Given the description of an element on the screen output the (x, y) to click on. 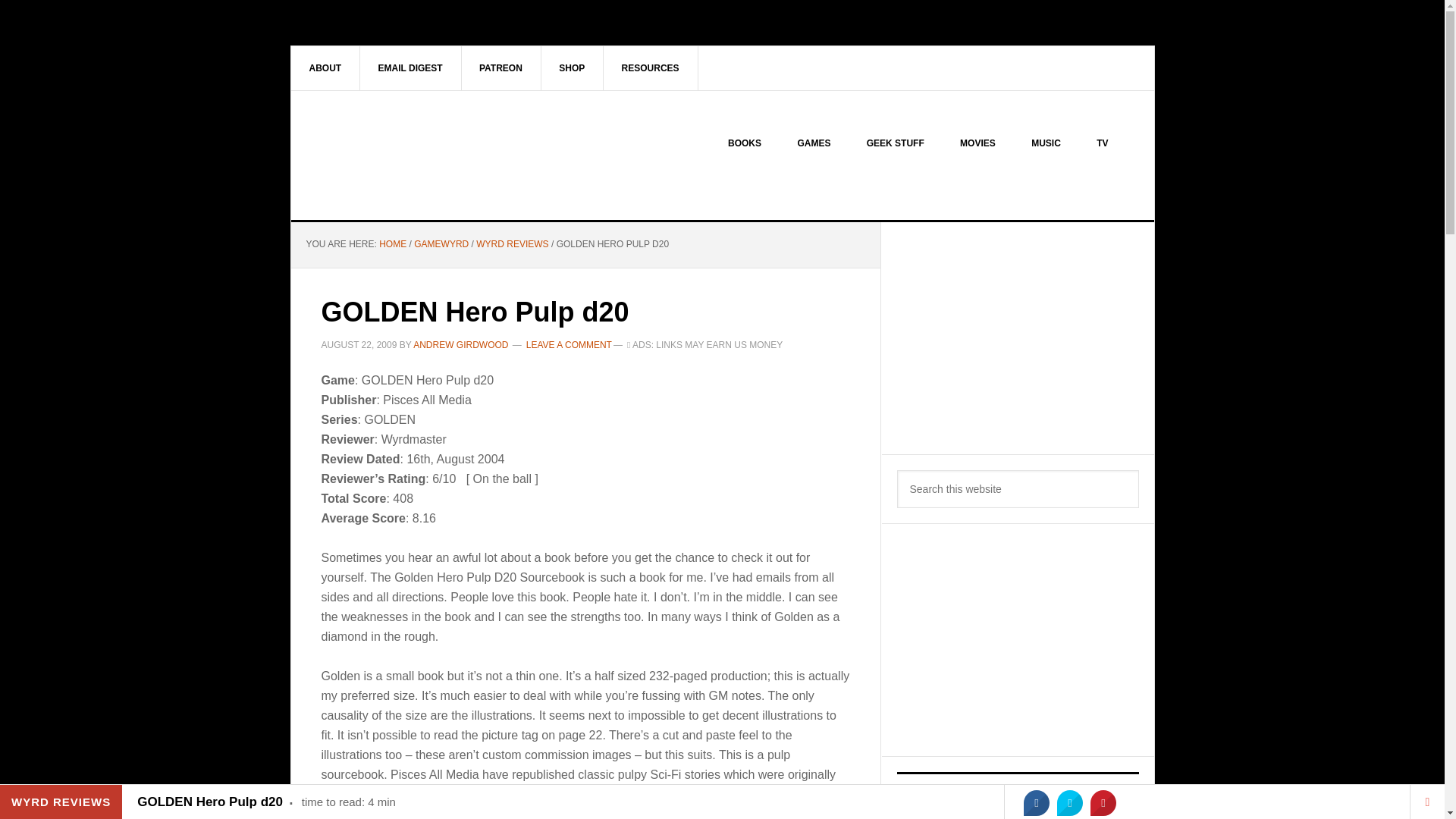
EMAIL DIGEST (410, 67)
TV (1101, 143)
RESOURCES (651, 67)
BOOKS (744, 143)
ABOUT (326, 67)
SHOP (572, 67)
GEEK STUFF (895, 143)
MOVIES (977, 143)
PATREON (501, 67)
GAMES (813, 143)
GEEK NATIVE (419, 155)
MUSIC (1045, 143)
